Given the description of an element on the screen output the (x, y) to click on. 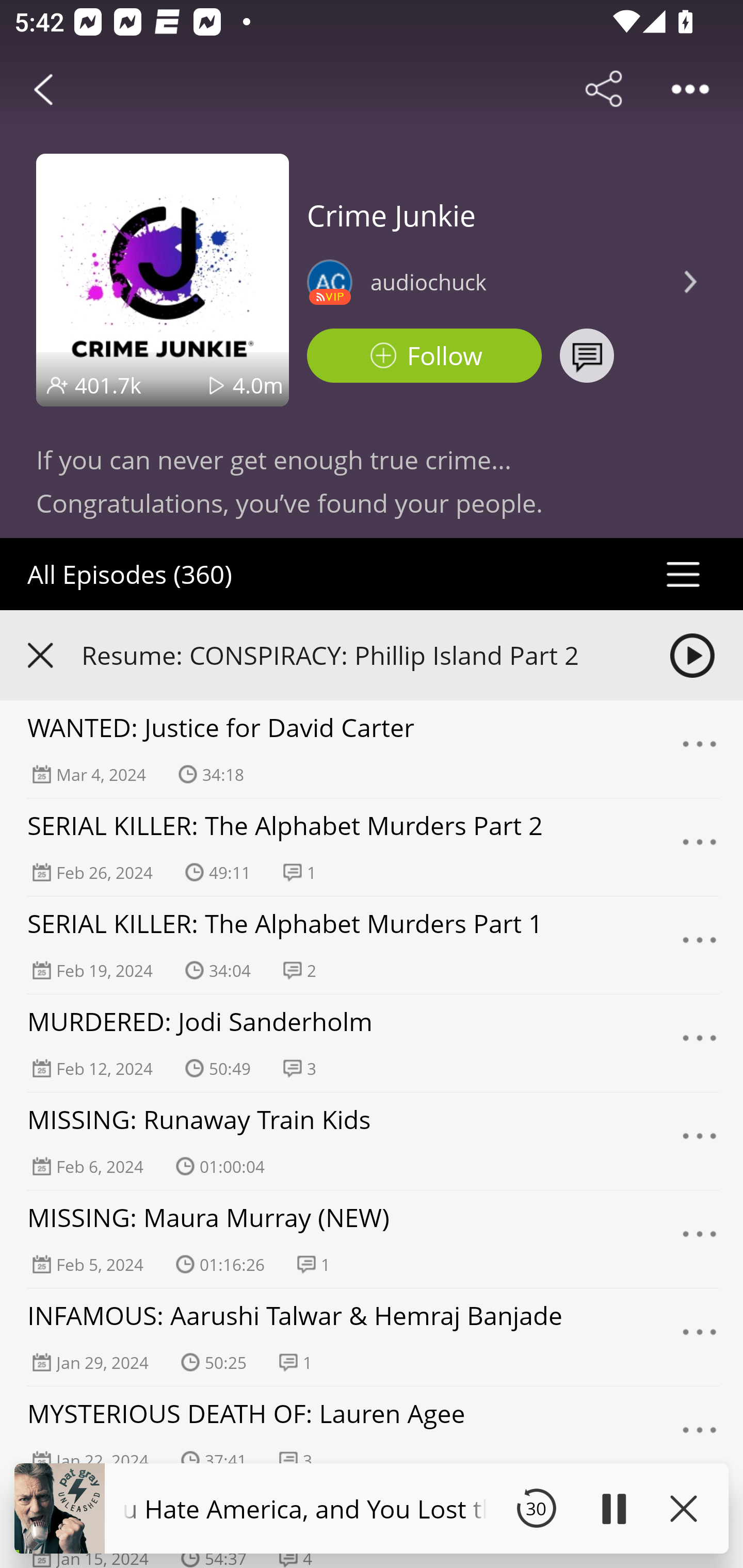
Back (43, 88)
Podbean Follow (423, 355)
401.7k (108, 384)
Resume: CONSPIRACY: Phillip Island Part 2 (371, 654)
Resume: CONSPIRACY: Phillip Island Part 2 (357, 654)
Menu (699, 749)
Menu (699, 847)
Menu (699, 945)
Menu (699, 1043)
Menu (699, 1141)
Menu (699, 1239)
Menu (699, 1337)
Menu (699, 1435)
Play (613, 1507)
30 Seek Backward (536, 1508)
